Given the description of an element on the screen output the (x, y) to click on. 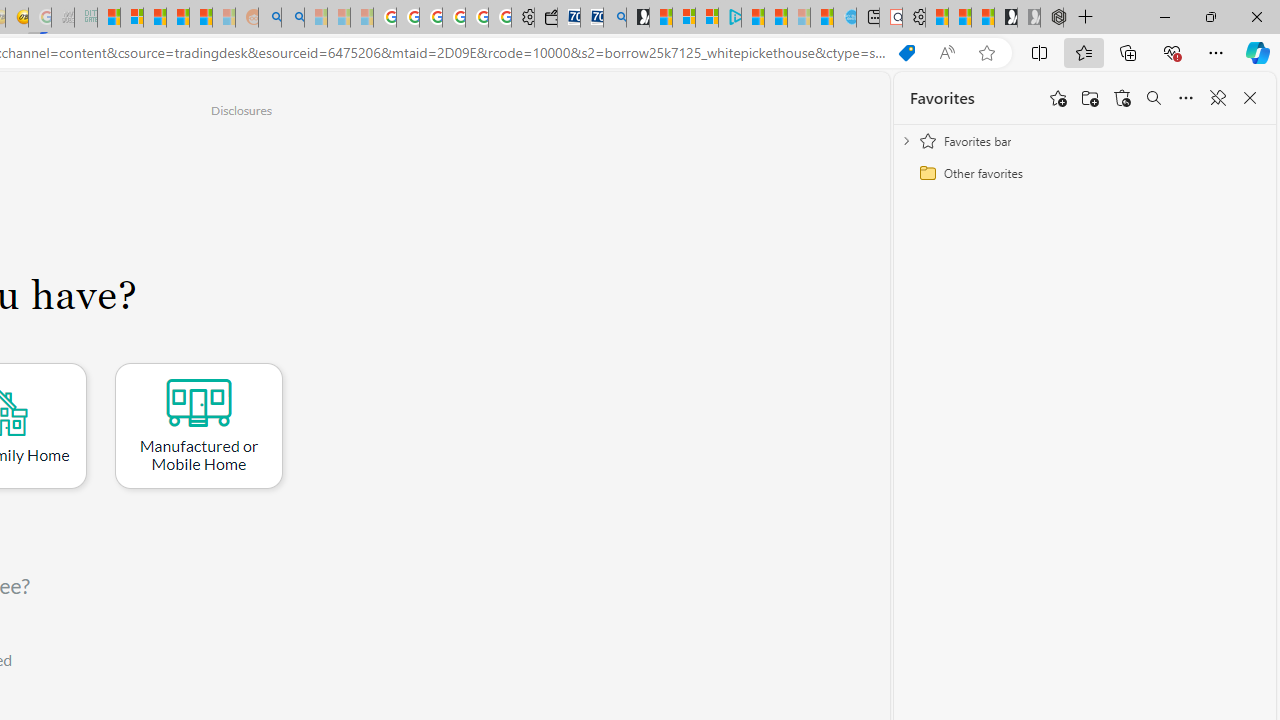
Bing Real Estate - Home sales and rental listings (614, 17)
Restore deleted favorites (1122, 98)
Shopping in Microsoft Edge (906, 53)
Student Loan Update: Forgiveness Program Ends This Month (200, 17)
Microsoft Start - Sleeping (799, 17)
Search favorites (1153, 98)
